Given the description of an element on the screen output the (x, y) to click on. 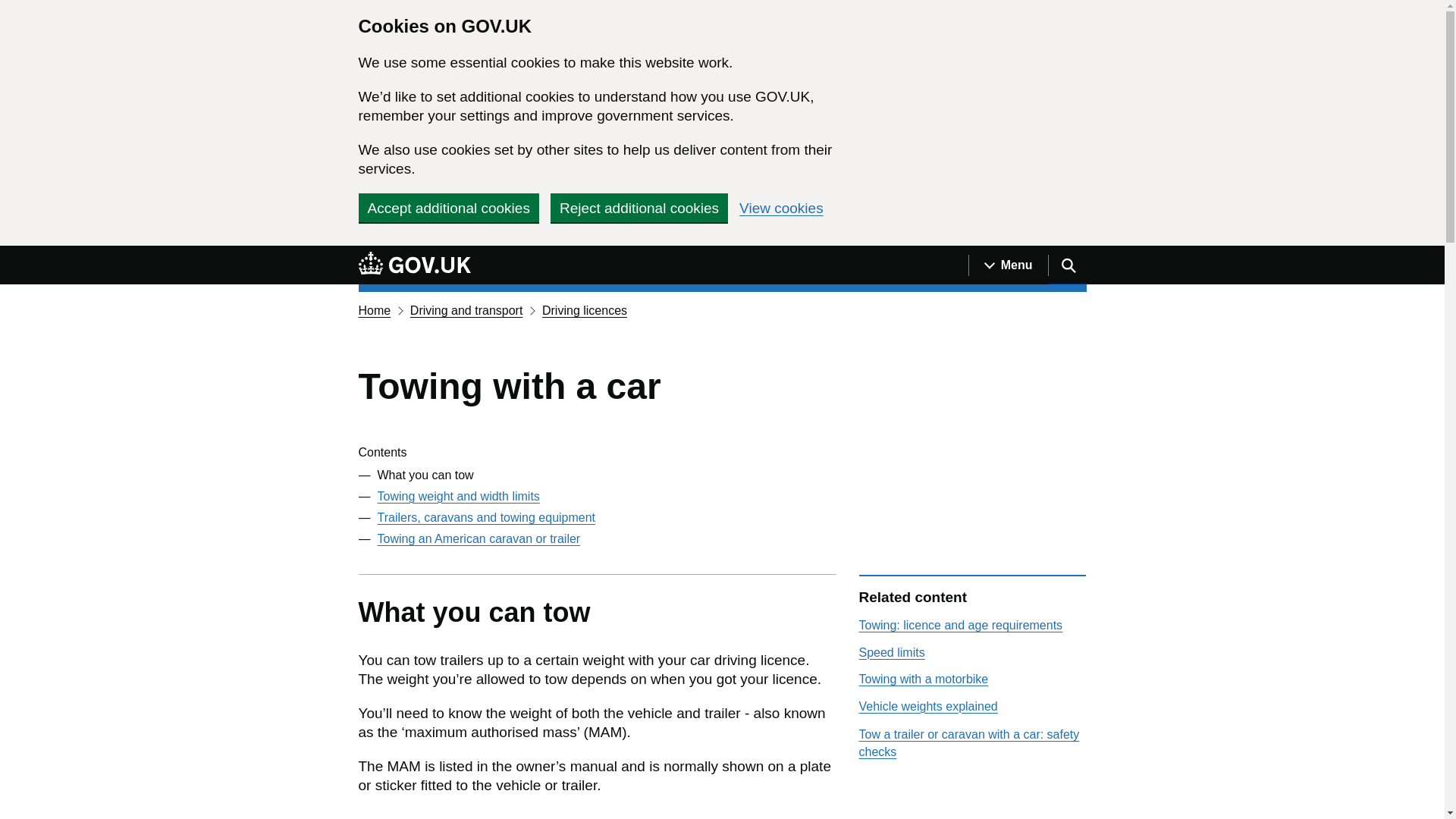
Reject additional cookies (639, 207)
Speed limits (891, 652)
Driving and transport (466, 309)
View cookies (781, 207)
Towing: licence and age requirements (960, 625)
Towing weight and width limits (458, 495)
maximum authorised mass (604, 731)
Tow a trailer or caravan with a car: safety checks (968, 743)
Towing an American caravan or trailer (478, 538)
Search GOV.UK (1067, 265)
Home (374, 309)
Vehicle weights explained (928, 706)
Menu (1008, 265)
maximum authorised mass (403, 765)
Accept additional cookies (448, 207)
